Given the description of an element on the screen output the (x, y) to click on. 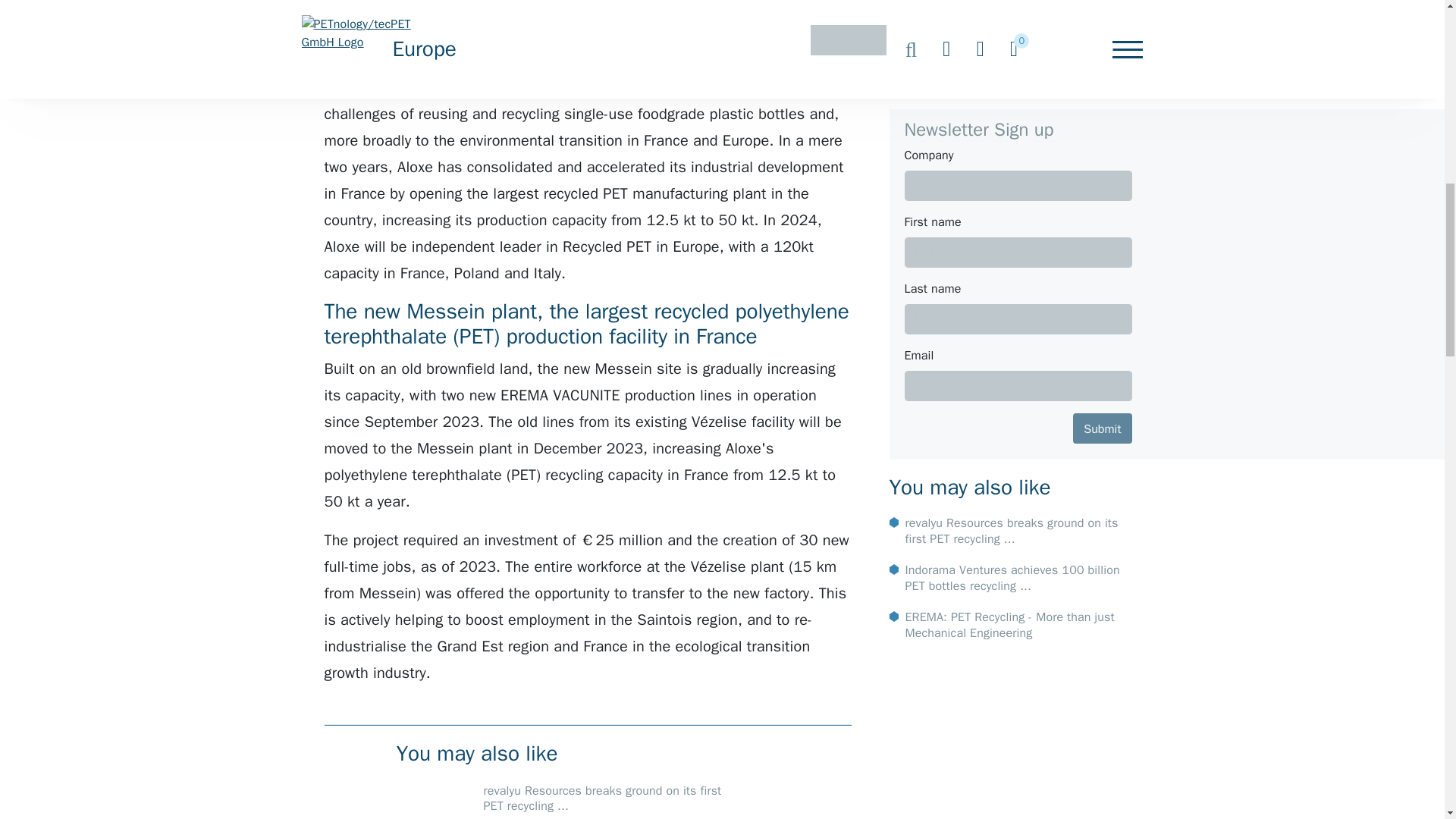
EREMA: PET Recycling - More than just Mechanical Engineering (1010, 399)
EREMA: PET Recycling - More than just Mechanical Engineering (1010, 399)
Submit (1102, 202)
